Given the description of an element on the screen output the (x, y) to click on. 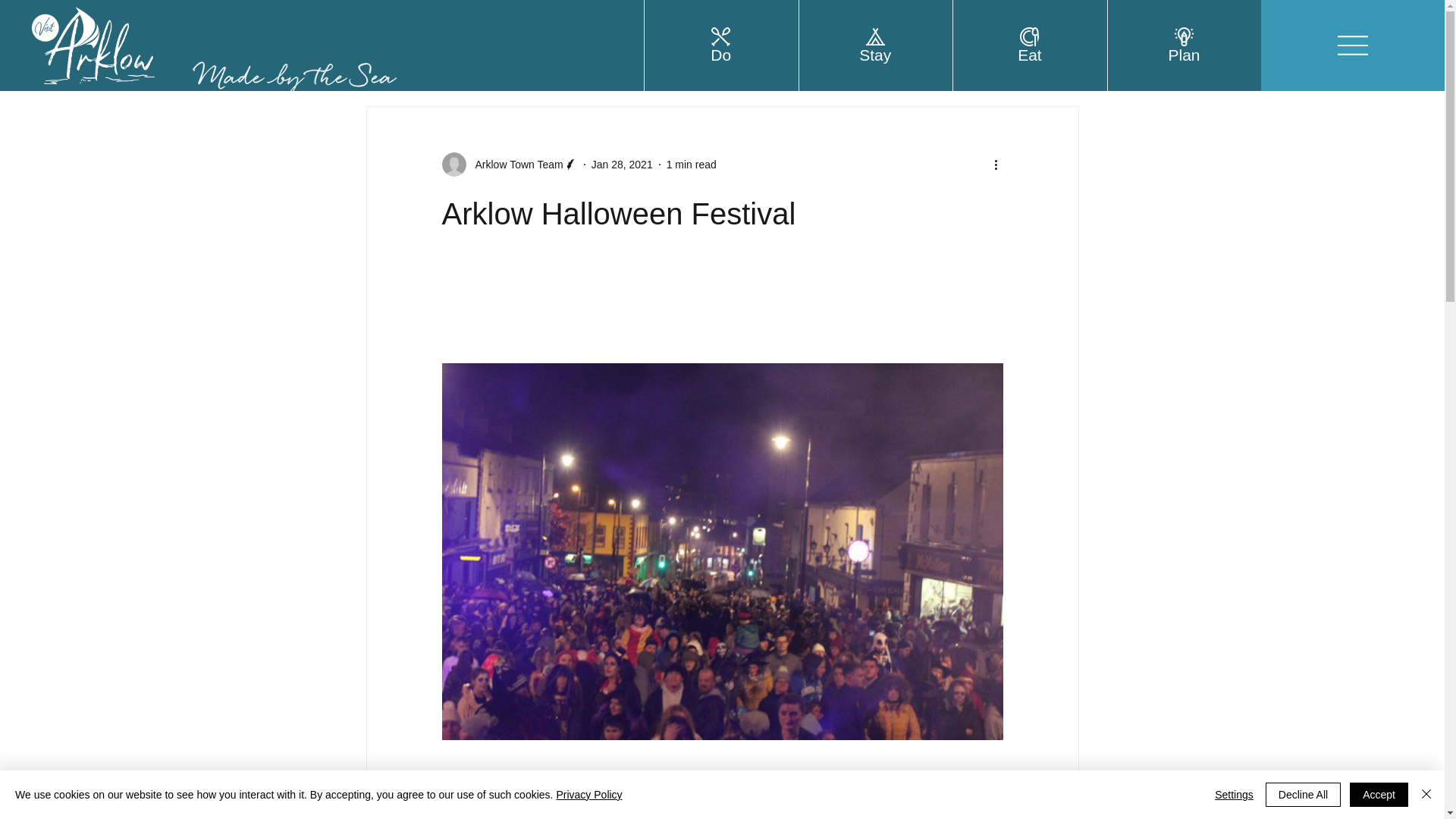
Eat (1029, 54)
Jan 28, 2021 (621, 163)
1 min read (691, 163)
Arklow Town Team (508, 164)
Do (720, 54)
Plan (1183, 54)
Stay (875, 54)
Arklow Town Team (513, 163)
